Given the description of an element on the screen output the (x, y) to click on. 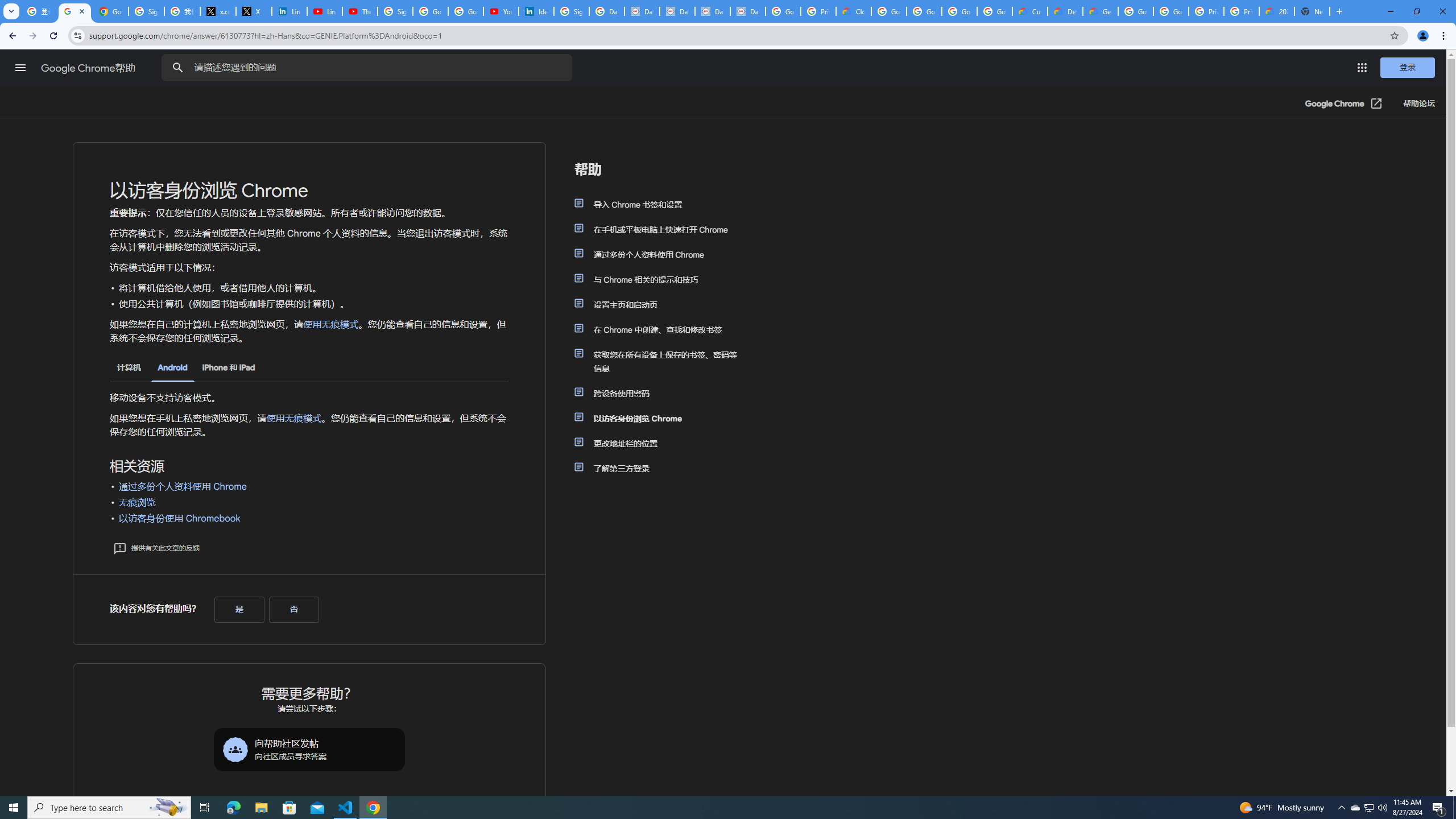
LinkedIn Privacy Policy (288, 11)
Customer Care | Google Cloud (1029, 11)
Data Privacy Framework (677, 11)
